Given the description of an element on the screen output the (x, y) to click on. 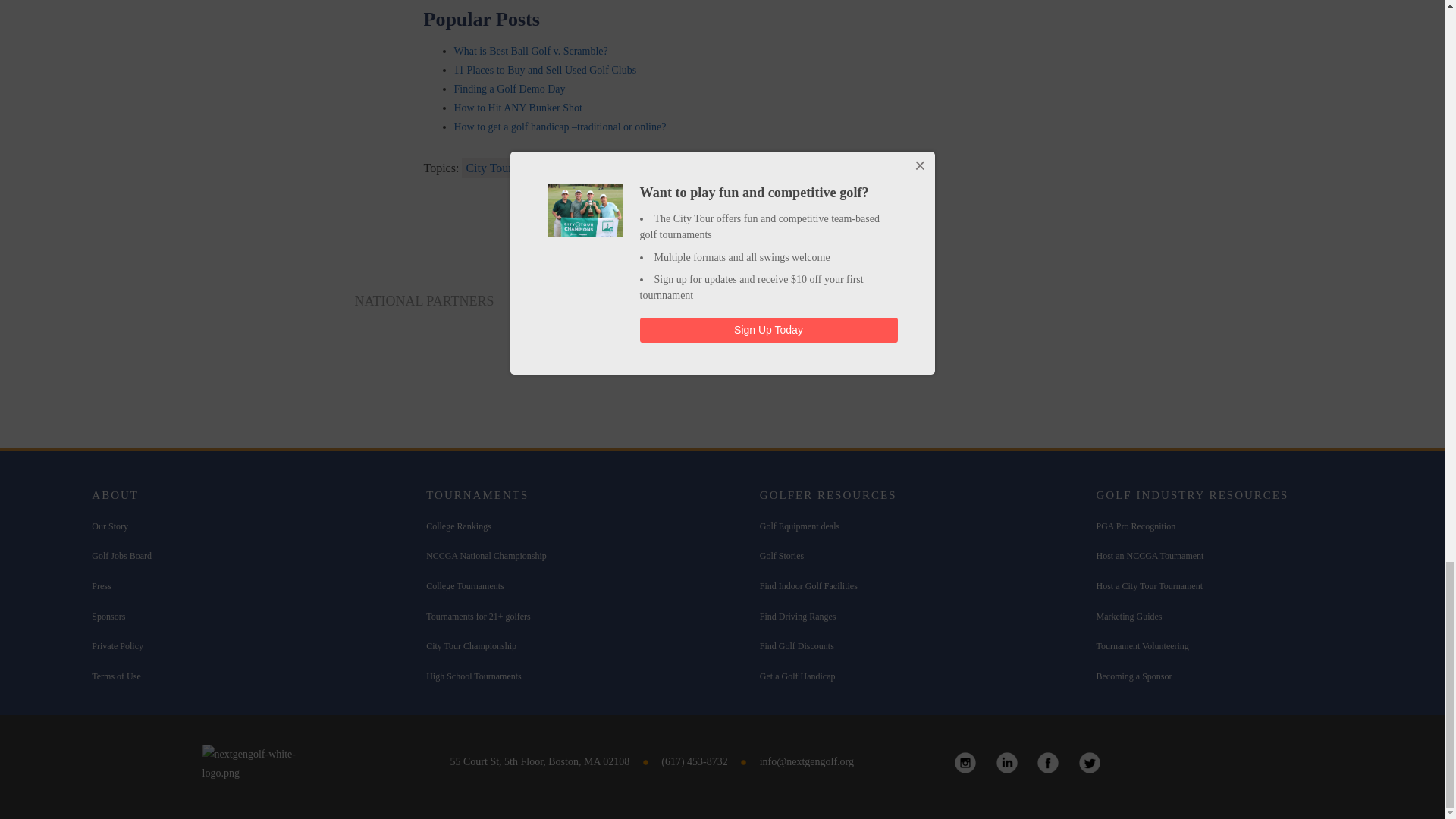
City Tour (488, 168)
LinkedIn (1006, 762)
Instagram (964, 762)
ABOUT (114, 495)
11 Places to Buy and Sell Used Golf Clubs (544, 70)
nextgengolf-white-logo.png (264, 763)
Twitter (1089, 762)
Facebook (1047, 762)
Finding a Golf Demo Day (508, 89)
What is Best Ball Golf v. Scramble? (529, 50)
How to Hit ANY Bunker Shot (516, 107)
